Given the description of an element on the screen output the (x, y) to click on. 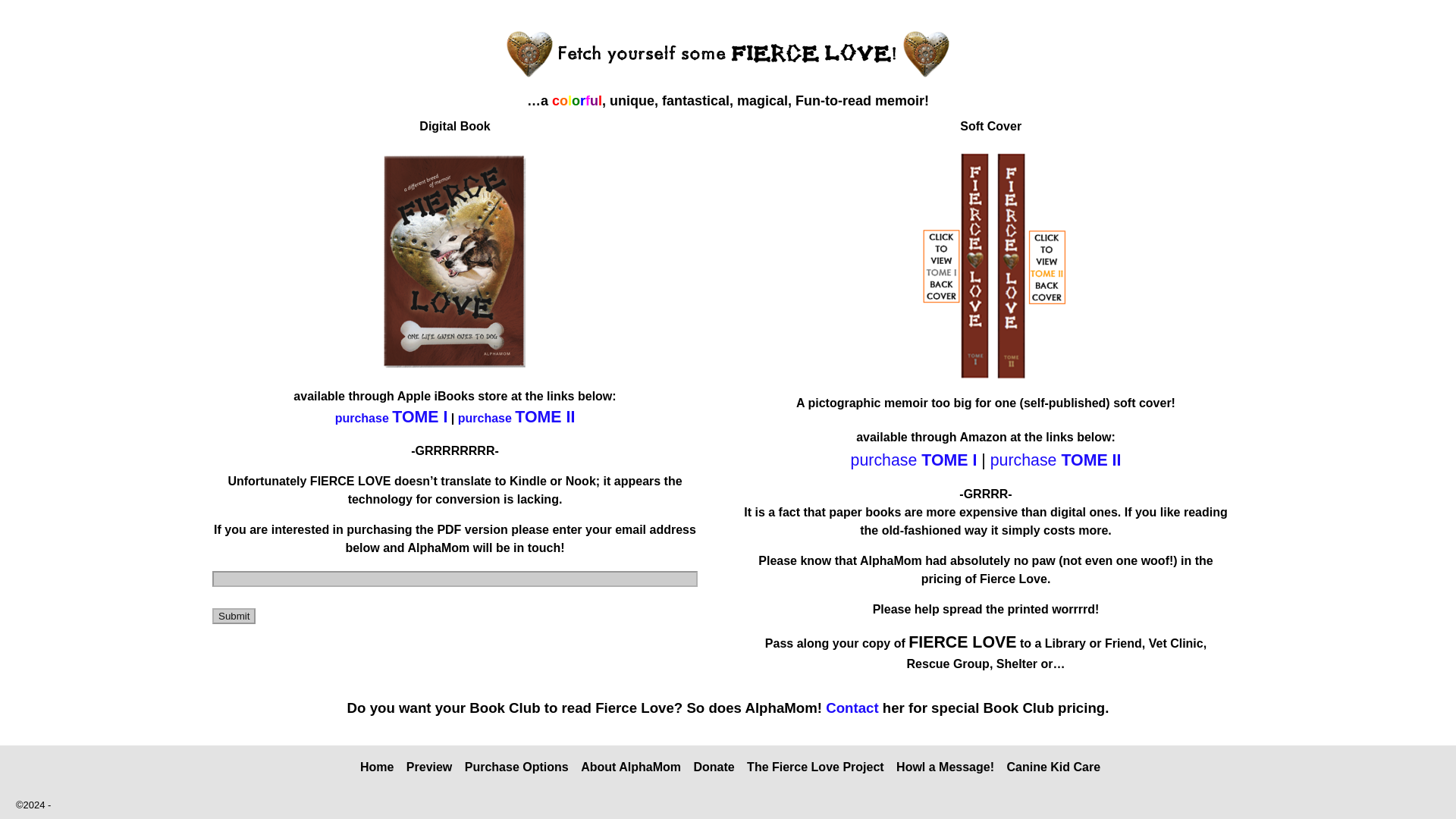
purchase TOME II (1055, 461)
Preview (428, 766)
purchase TOME II (516, 418)
About AlphaMom (630, 766)
purchase TOME I (913, 460)
Submit (234, 616)
Home (376, 766)
Submit (234, 616)
Page 1 (985, 549)
